Given the description of an element on the screen output the (x, y) to click on. 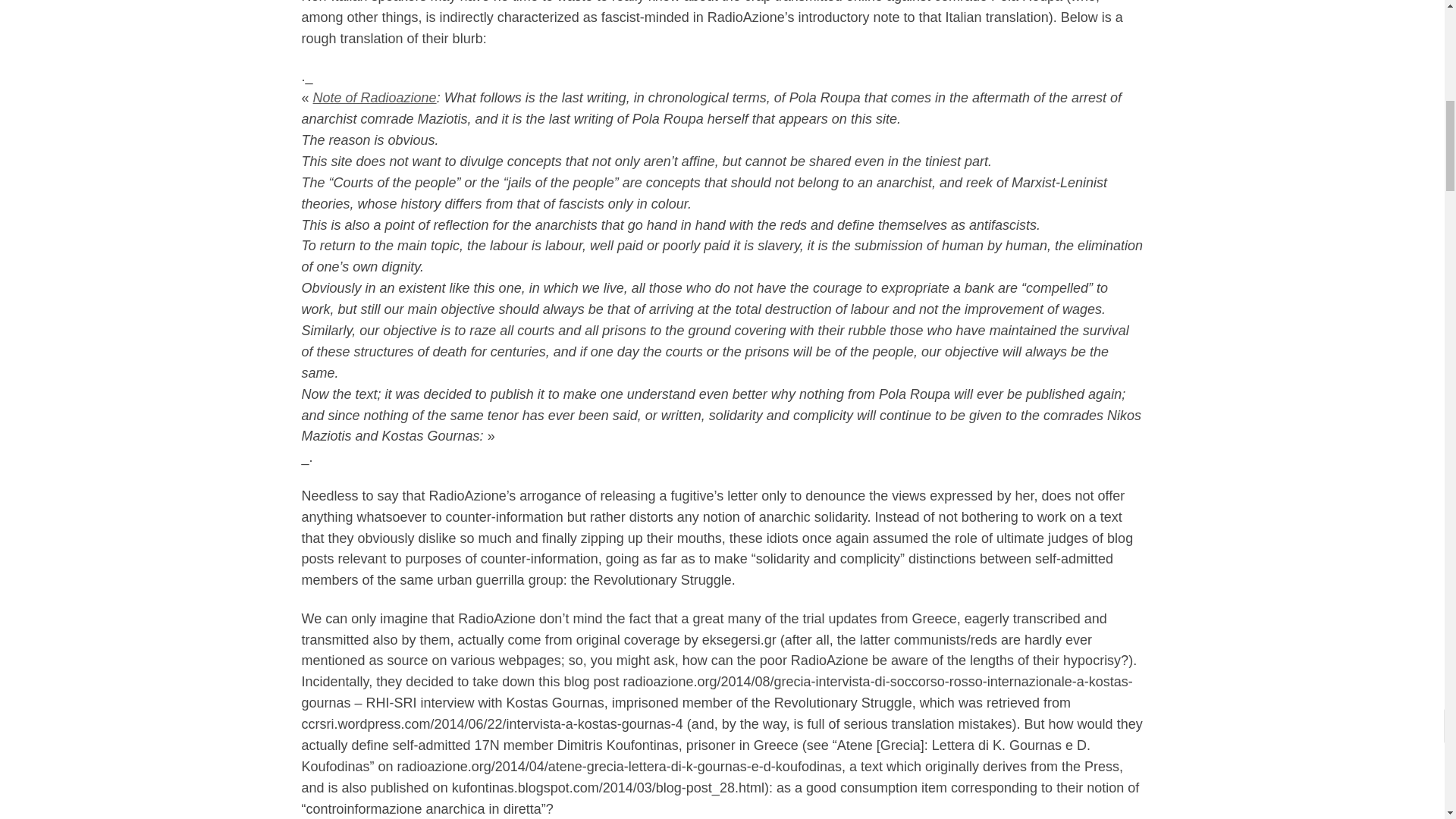
Note of Radioazione (374, 97)
